Given the description of an element on the screen output the (x, y) to click on. 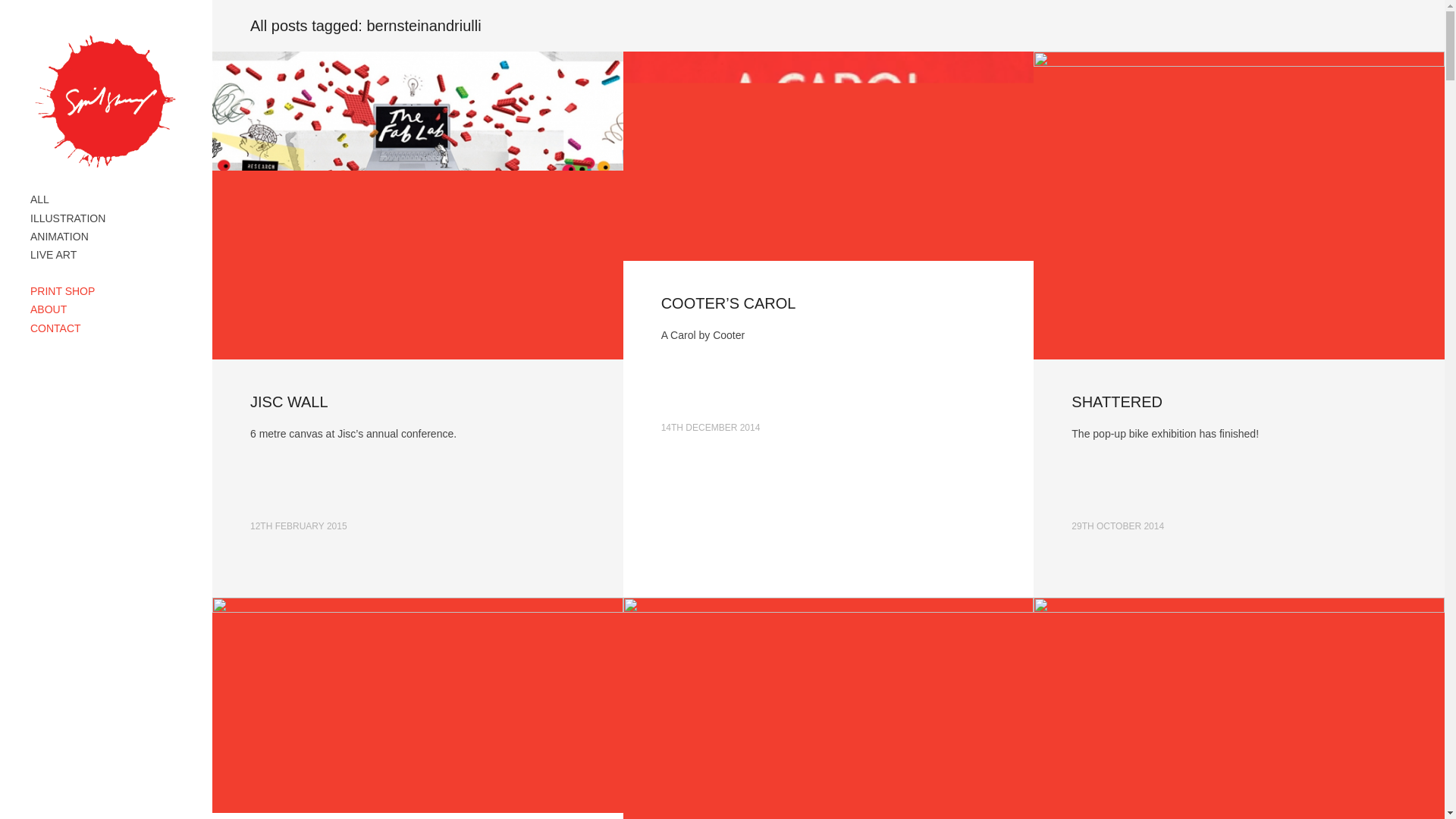
Permalink to DRAWIT (417, 705)
CONTACT (55, 328)
JISC WALL (289, 401)
Permalink to Shattered (1116, 401)
LIVE ART (53, 254)
ALL (39, 199)
LinkedIn (63, 366)
11:38 am (710, 427)
10:05 am (298, 525)
PRINT SHOP (62, 291)
